Given the description of an element on the screen output the (x, y) to click on. 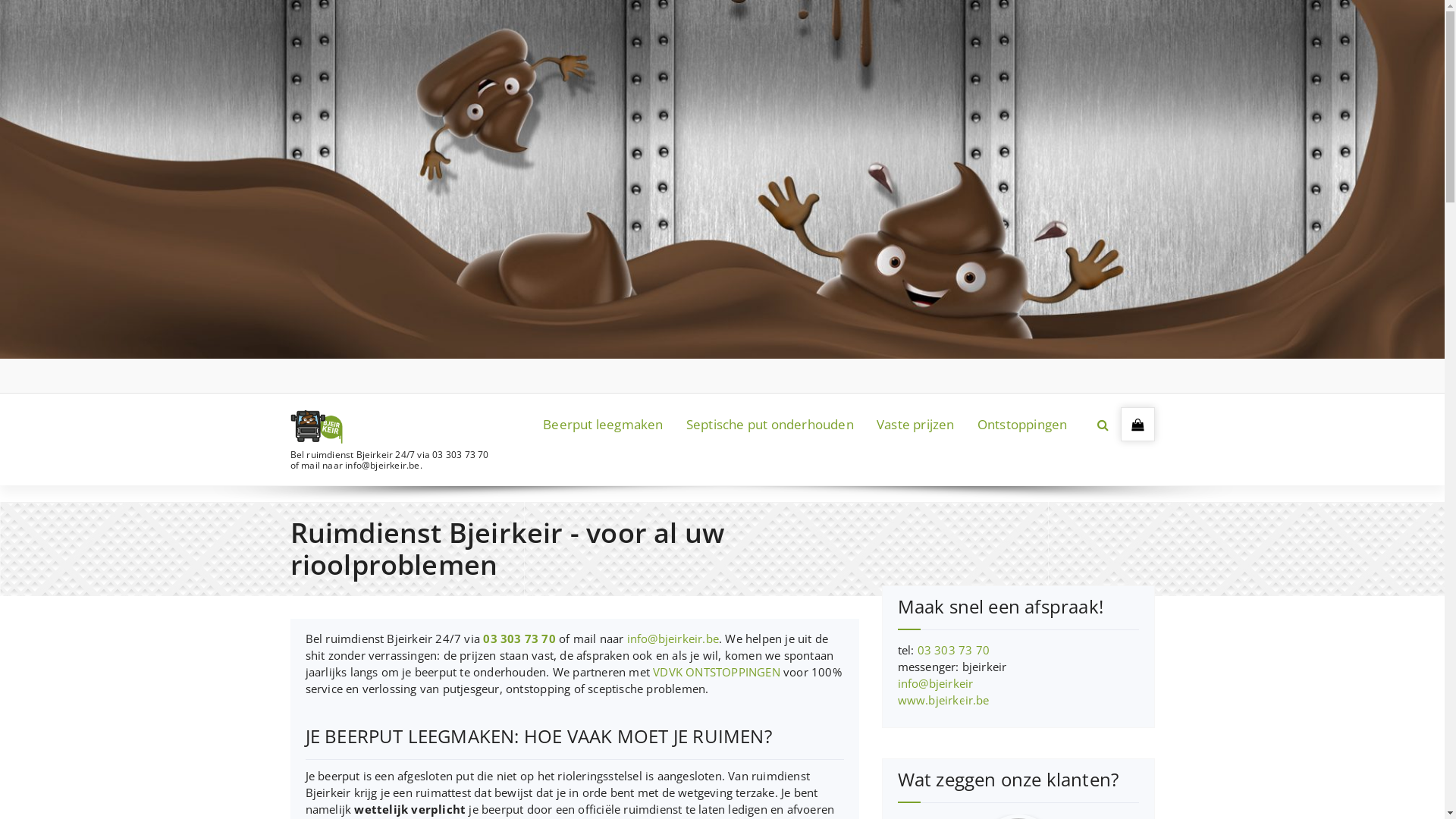
info@bjeirkeir.be Element type: text (672, 638)
Vaste prijzen Element type: text (915, 424)
VDVK ONTSTOPPINGEN Element type: text (716, 671)
03 303 73 70 Element type: text (953, 649)
Ontstoppingen Element type: text (1022, 424)
Septische put onderhouden Element type: text (769, 424)
www.bjeirkeir.be Element type: text (943, 699)
Beerput leegmaken Element type: text (602, 424)
info@bjeirkeir Element type: text (935, 682)
03 303 73 70 Element type: text (519, 638)
